Given the description of an element on the screen output the (x, y) to click on. 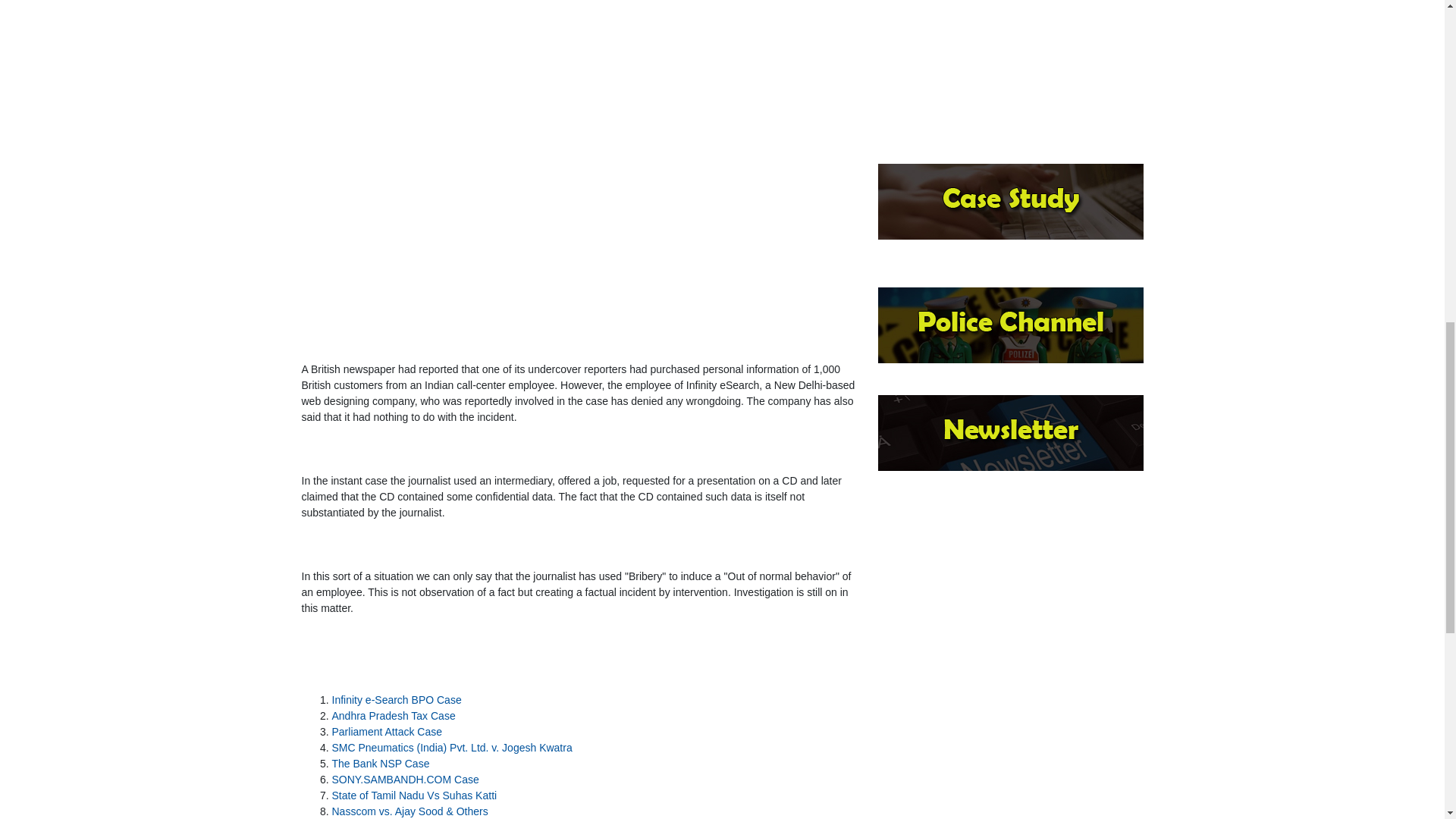
Infinity e-Search BPO Case (396, 699)
Advertisement (1009, 74)
State of Tamil Nadu Vs Suhas Katti (414, 795)
Andhra Pradesh Tax Case (393, 715)
The Bank NSP Case (380, 763)
Parliament Attack Case (386, 731)
SONY.SAMBANDH.COM Case (405, 779)
